Given the description of an element on the screen output the (x, y) to click on. 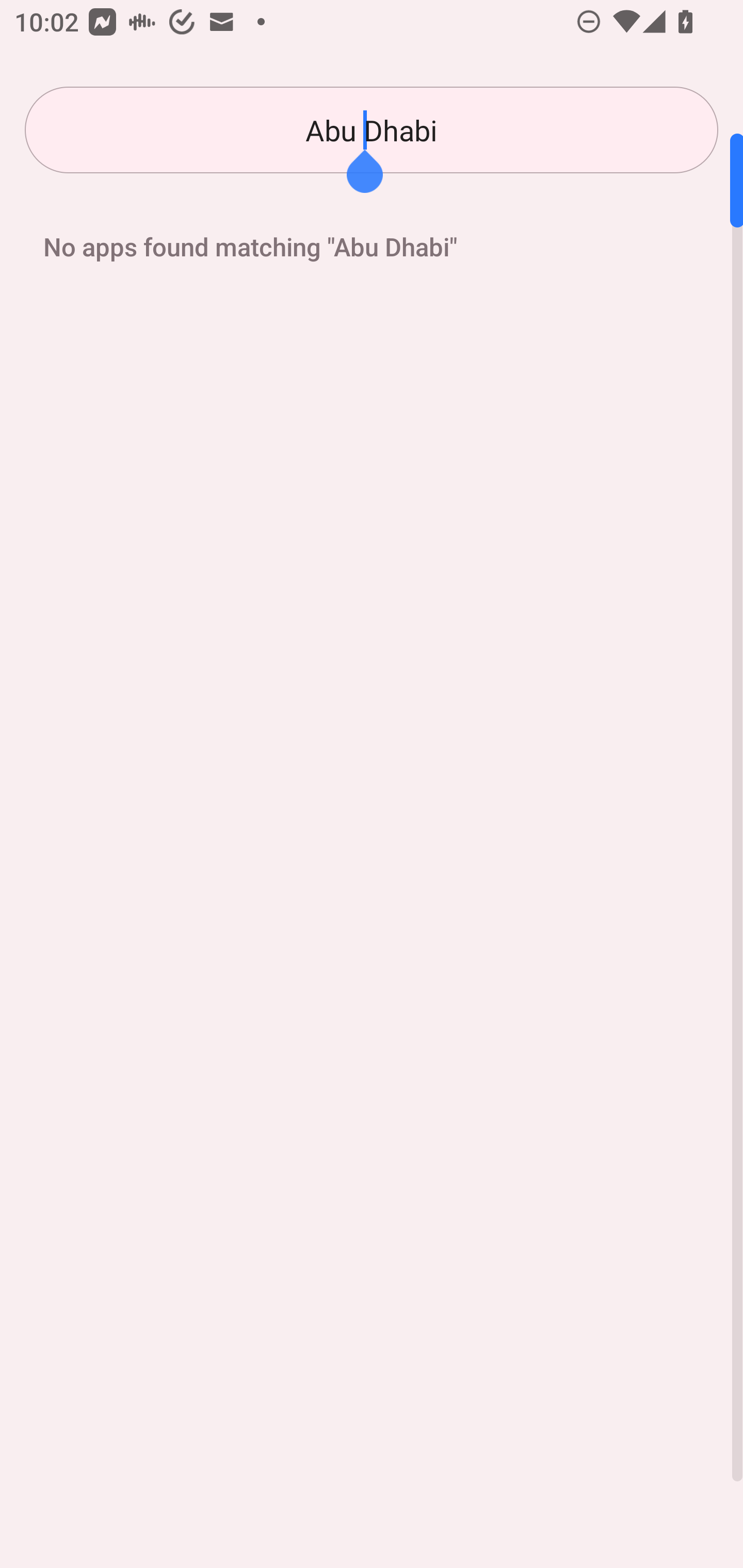
Abu Dhabi (371, 130)
